Given the description of an element on the screen output the (x, y) to click on. 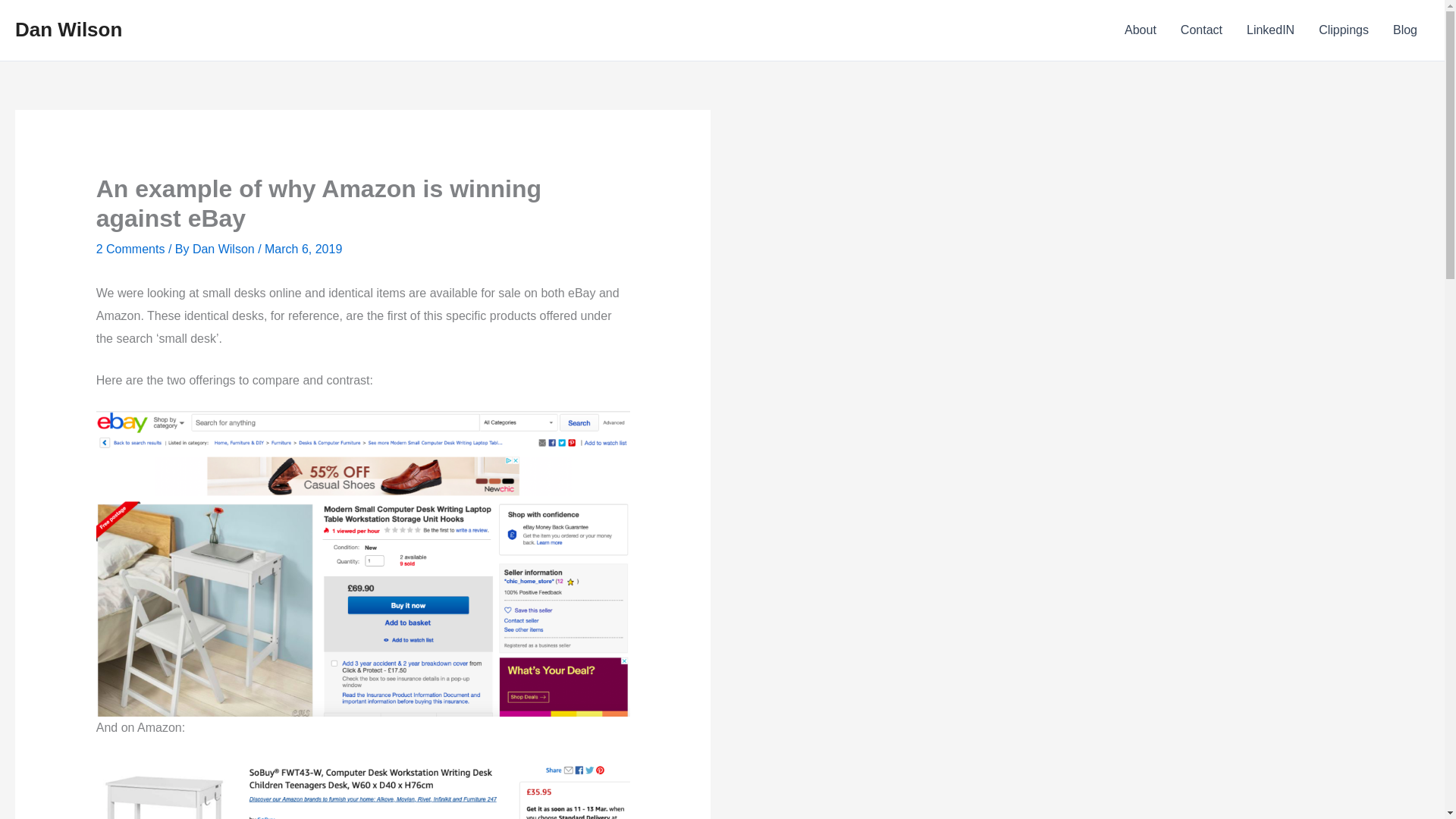
Dan Wilson (224, 248)
2 Comments (130, 248)
Contact (1201, 30)
View all posts by Dan Wilson (224, 248)
Clippings (1343, 30)
Dan Wilson (68, 29)
About (1140, 30)
LinkedIN (1270, 30)
